Given the description of an element on the screen output the (x, y) to click on. 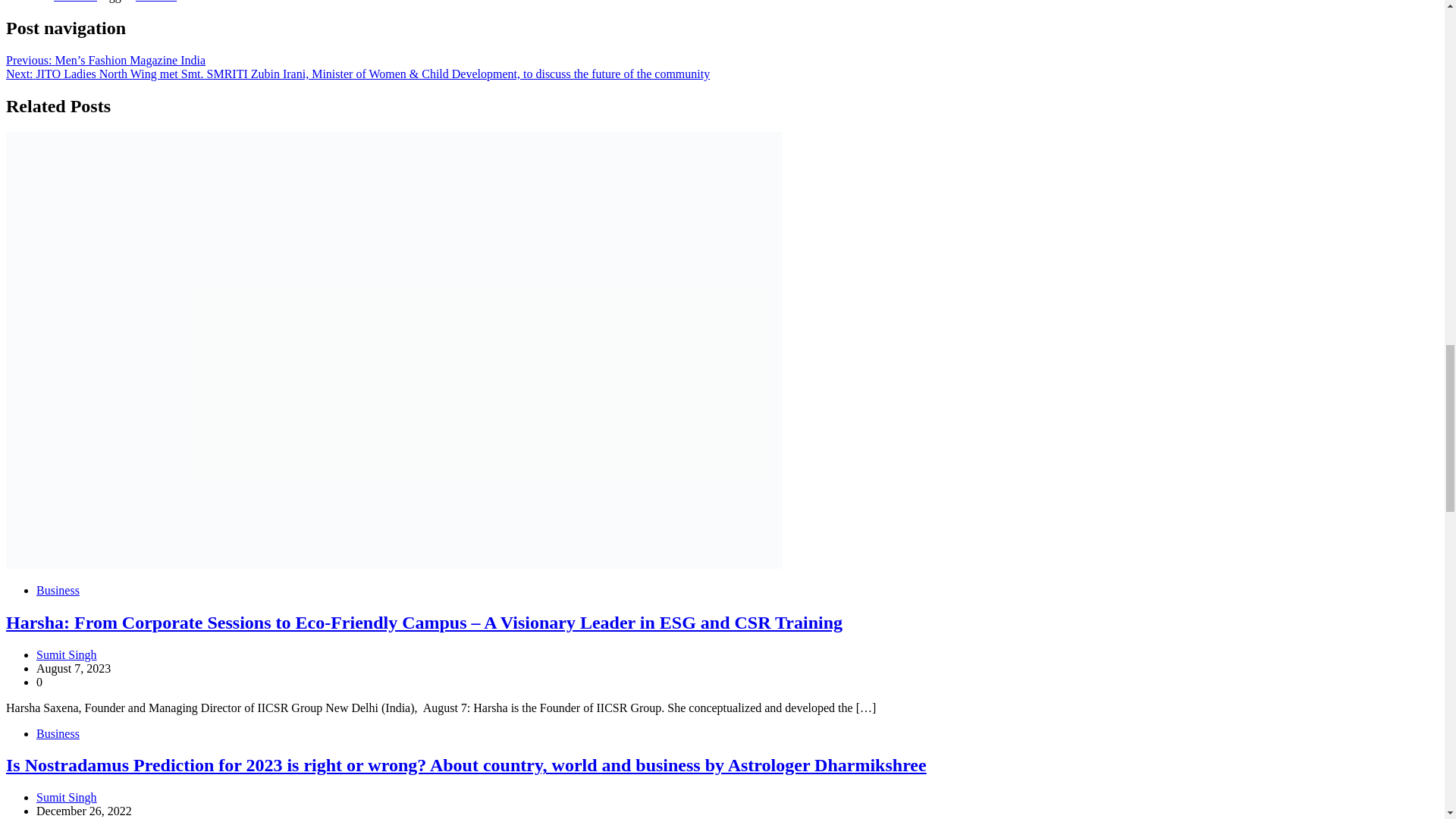
Business (75, 1)
Business (58, 733)
Sumit Singh (66, 797)
Sumit Singh (66, 654)
Business (58, 590)
business (155, 1)
